Given the description of an element on the screen output the (x, y) to click on. 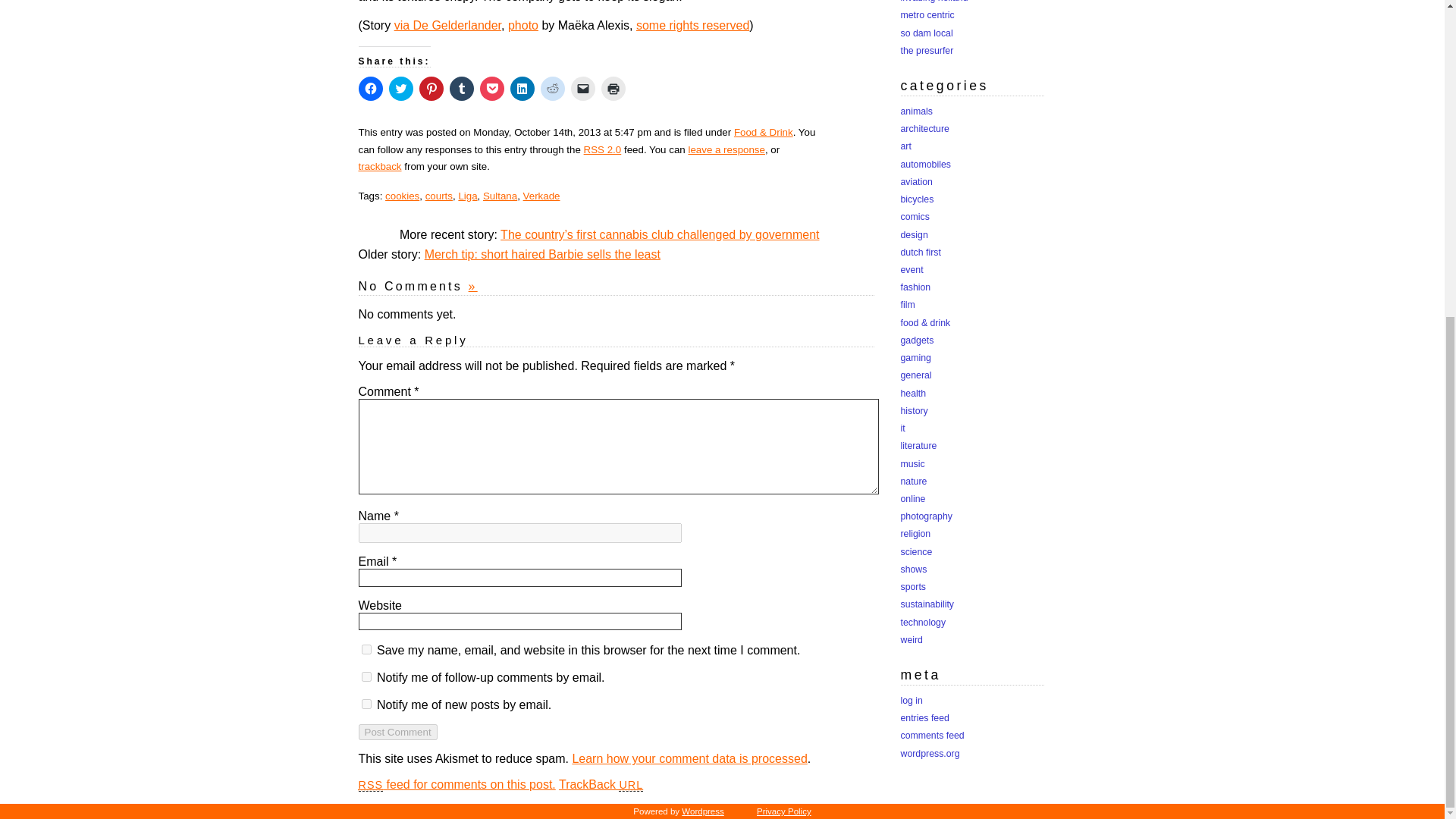
trackback (379, 165)
subscribe (366, 676)
Post Comment (397, 731)
Liga (467, 195)
yes (366, 649)
RSS 2.0 (602, 148)
cookies (402, 195)
Merch tip: short haired Barbie sells the least (543, 254)
Sultana (499, 195)
Verkade (541, 195)
via De Gelderlander (447, 24)
some rights reserved (692, 24)
subscribe (366, 704)
courts (438, 195)
leave a response (726, 148)
